Given the description of an element on the screen output the (x, y) to click on. 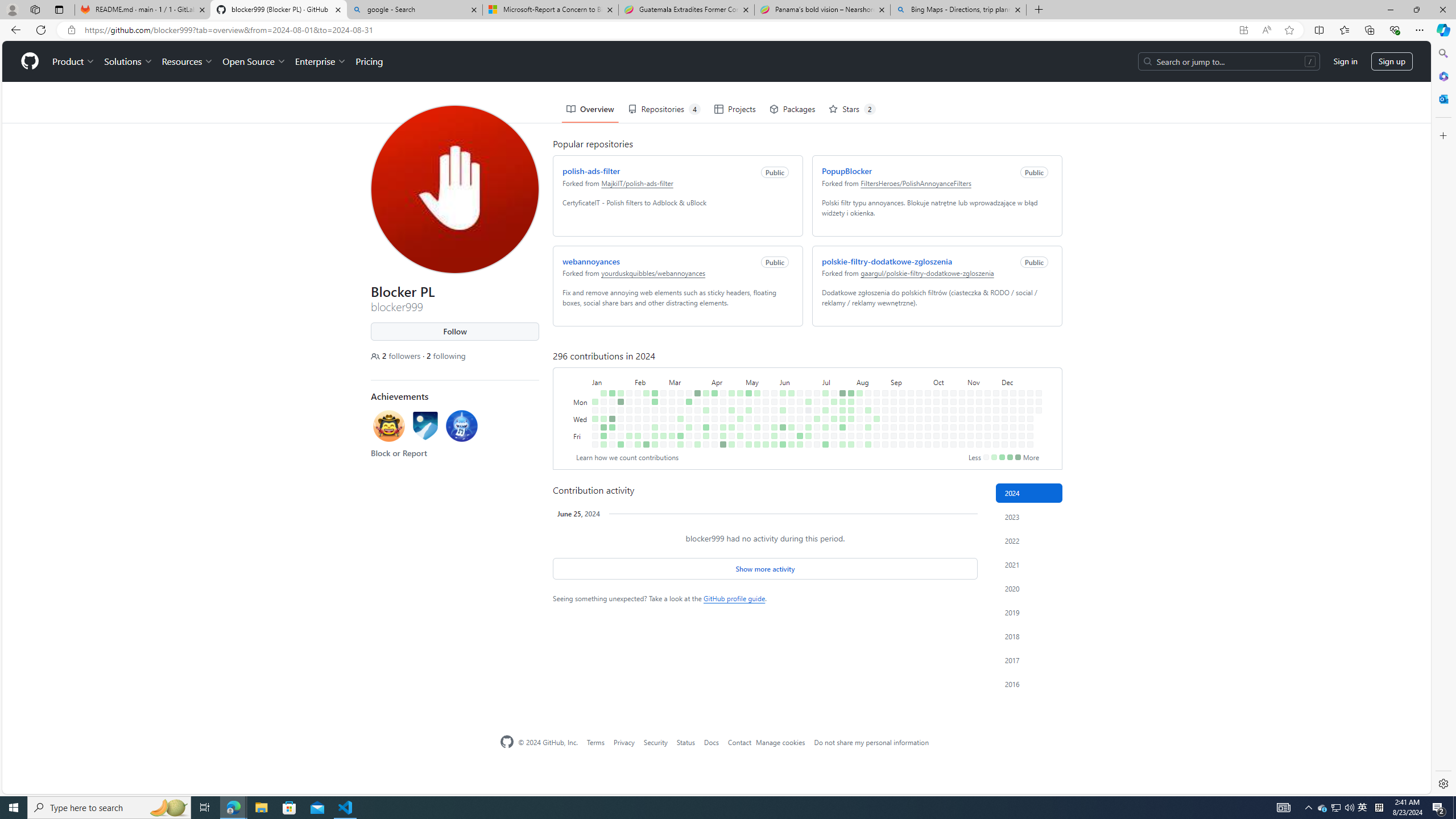
No contributions on May 23rd. (763, 386)
3 contributions on March 13th. (678, 377)
August (870, 339)
Enterprise (318, 20)
No contributions on September 23rd. (917, 360)
Terms (595, 741)
No contributions on August 18th. (873, 351)
No contributions on July 26th. (840, 394)
No contributions on August 25th. (882, 351)
2 contributions on April 18th. (720, 386)
Block or Report (396, 412)
No contributions on November 16th. (978, 444)
2 contributions on June 28th. (806, 394)
1 contribution on May 25th. (765, 444)
